Given the description of an element on the screen output the (x, y) to click on. 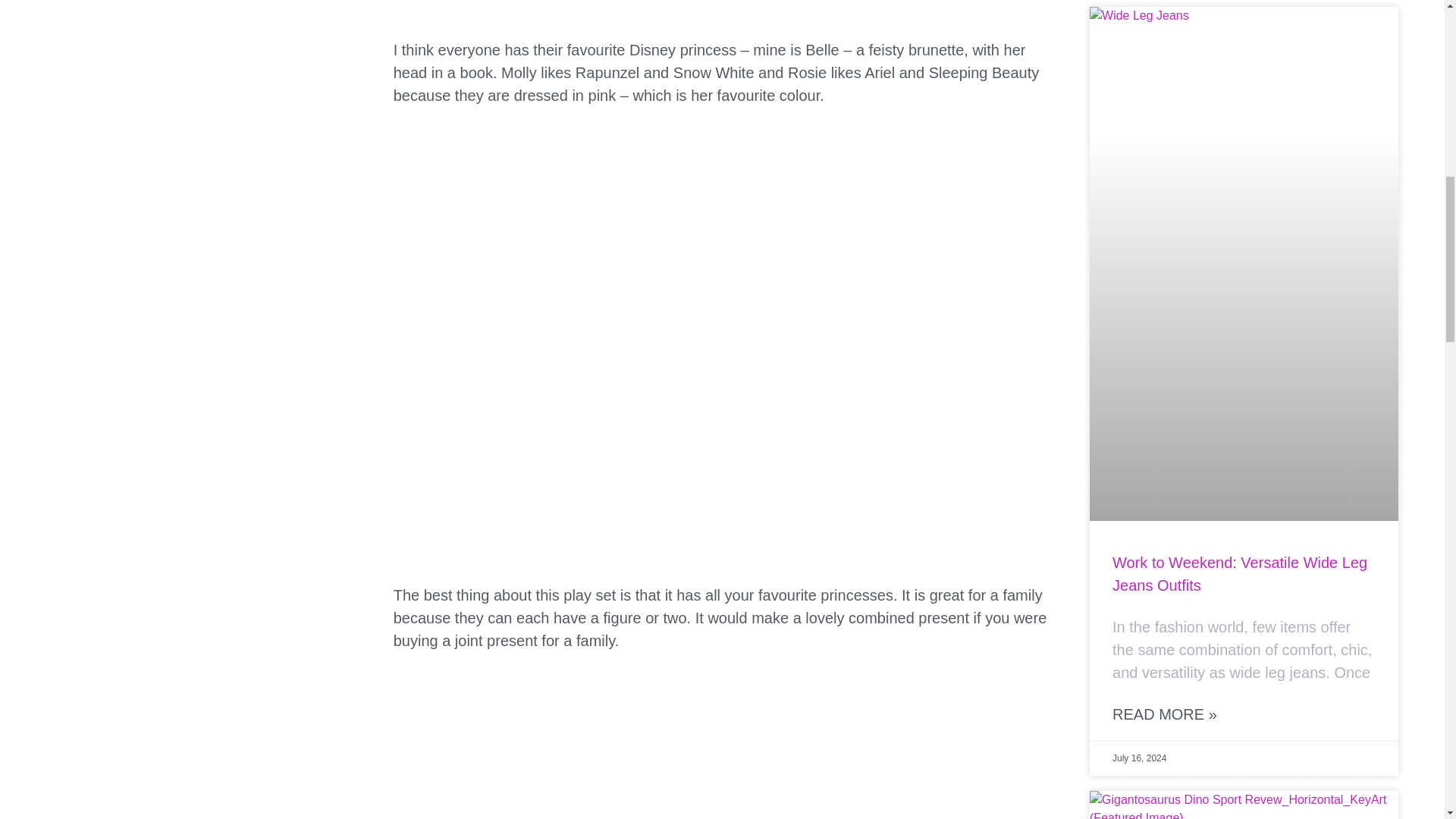
Work to Weekend: Versatile Wide Leg Jeans Outfits (1239, 573)
